Given the description of an element on the screen output the (x, y) to click on. 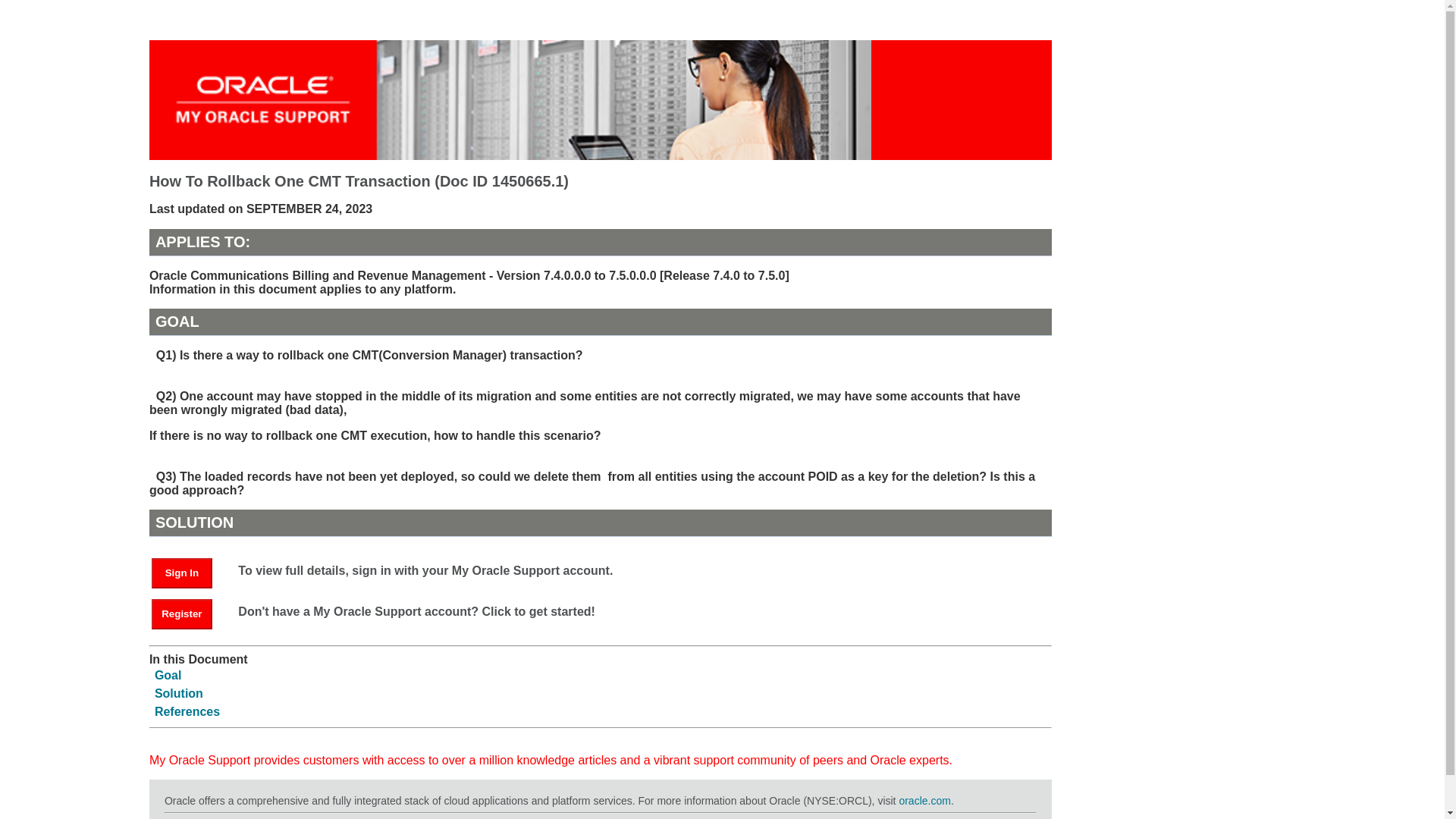
oracle.com (924, 800)
Goal (168, 675)
Sign In (189, 571)
References (186, 711)
Register (181, 613)
Sign In (181, 572)
oracle.com (924, 800)
Solution (178, 693)
Register (189, 612)
